Given the description of an element on the screen output the (x, y) to click on. 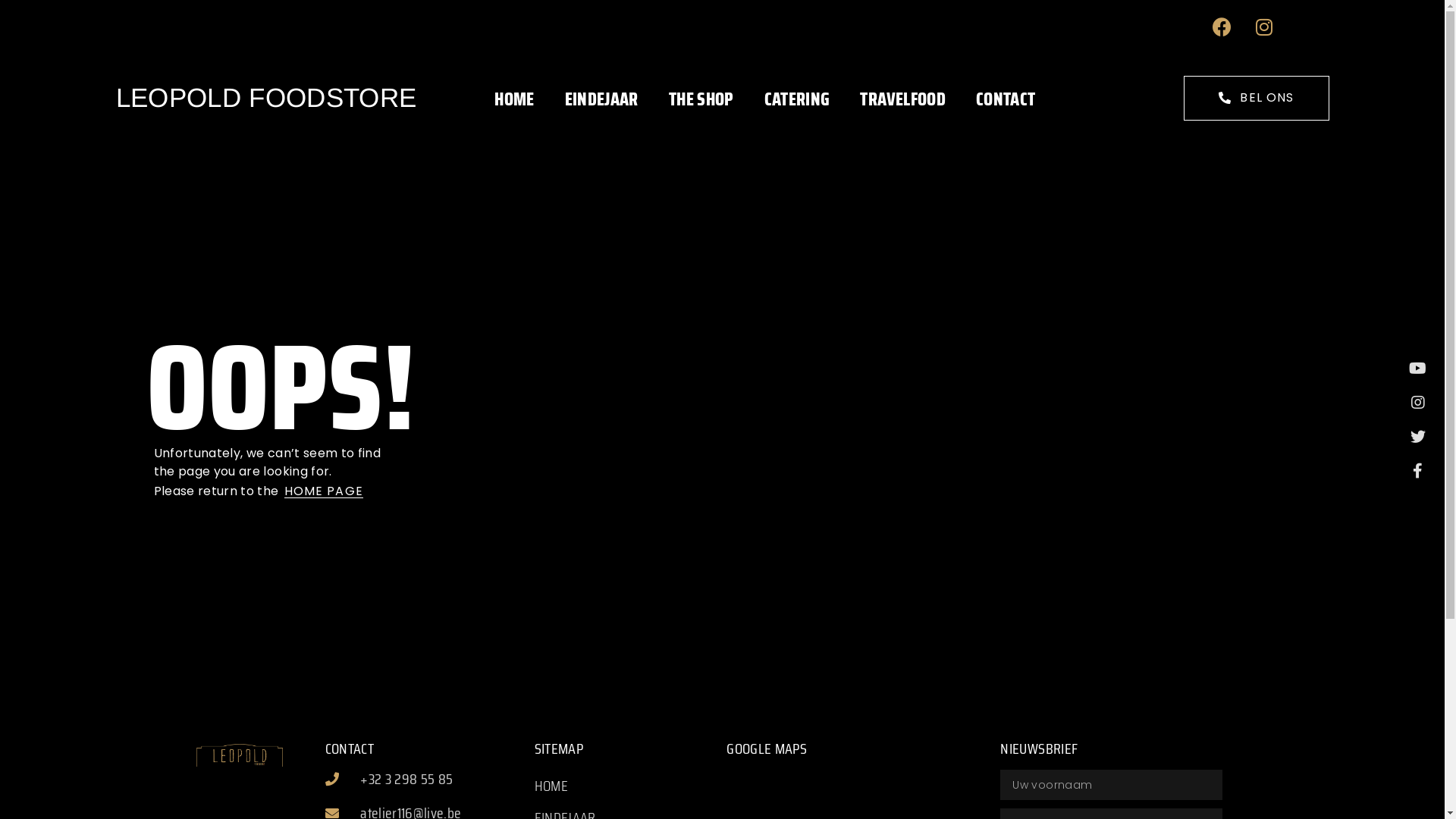
+32 3 298 55 85 Element type: text (425, 778)
CONTACT Element type: text (1005, 99)
HOME PAGE Element type: text (322, 491)
THE SHOP Element type: text (701, 99)
BEL ONS Element type: text (1255, 97)
CATERING Element type: text (797, 99)
HOME Element type: text (514, 99)
EINDEJAAR Element type: text (601, 99)
TRAVELFOOD Element type: text (902, 99)
LEOPOLD FOODSTORE Element type: text (265, 97)
HOME Element type: text (630, 785)
